Given the description of an element on the screen output the (x, y) to click on. 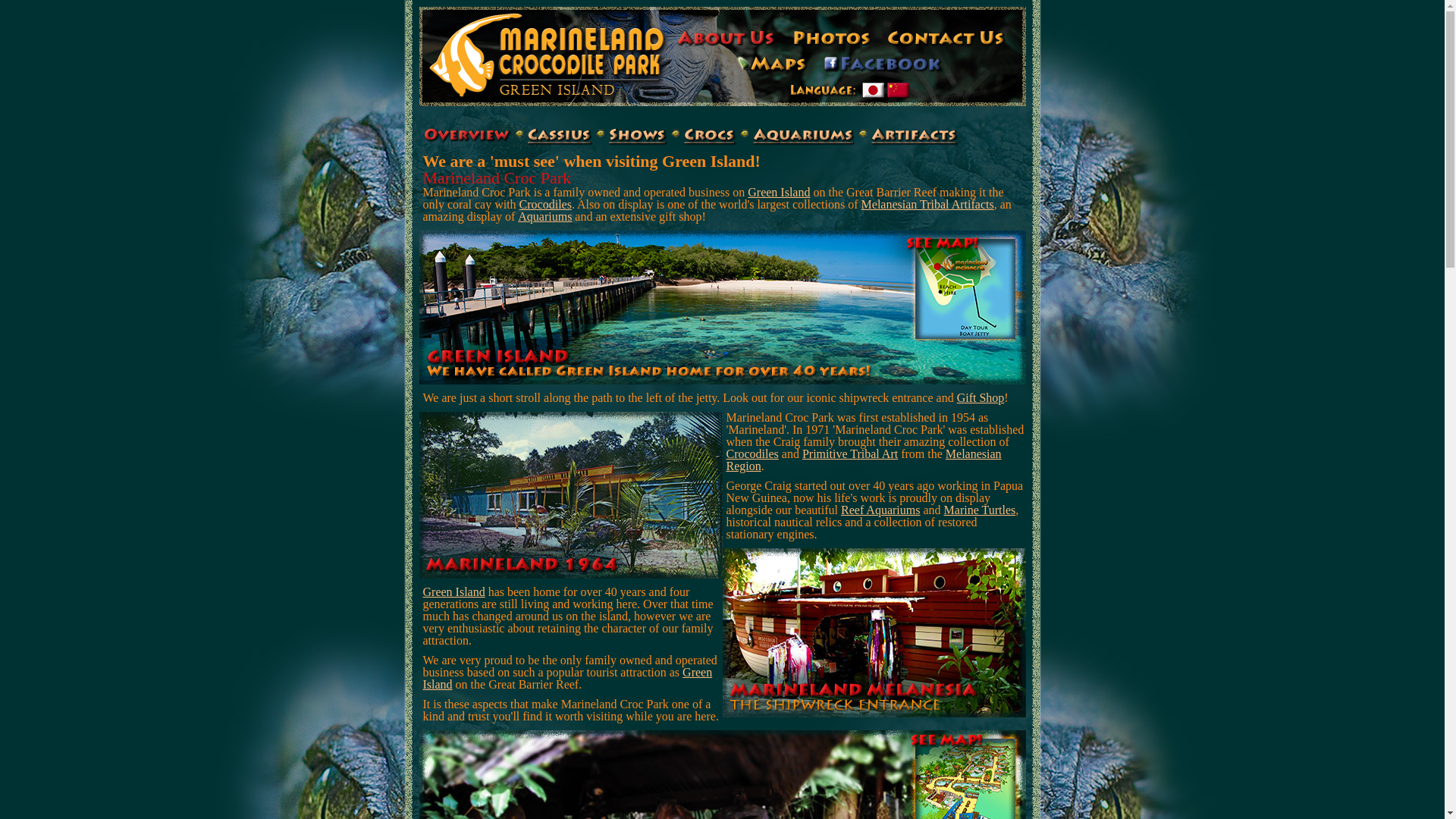
Green Island Element type: text (454, 591)
Aquariums Element type: text (544, 216)
Gift Shop Element type: text (980, 397)
Melanesian Tribal Artifacts Element type: text (927, 203)
Crocodiles Element type: text (545, 203)
Crocodiles Element type: text (752, 453)
Marine Turtles Element type: text (980, 509)
Reef Aquariums Element type: text (879, 509)
Green Island Element type: text (778, 191)
Green Island Element type: text (567, 677)
Melanesian Region Element type: text (863, 459)
Primitive Tribal Art Element type: text (849, 453)
